Given the description of an element on the screen output the (x, y) to click on. 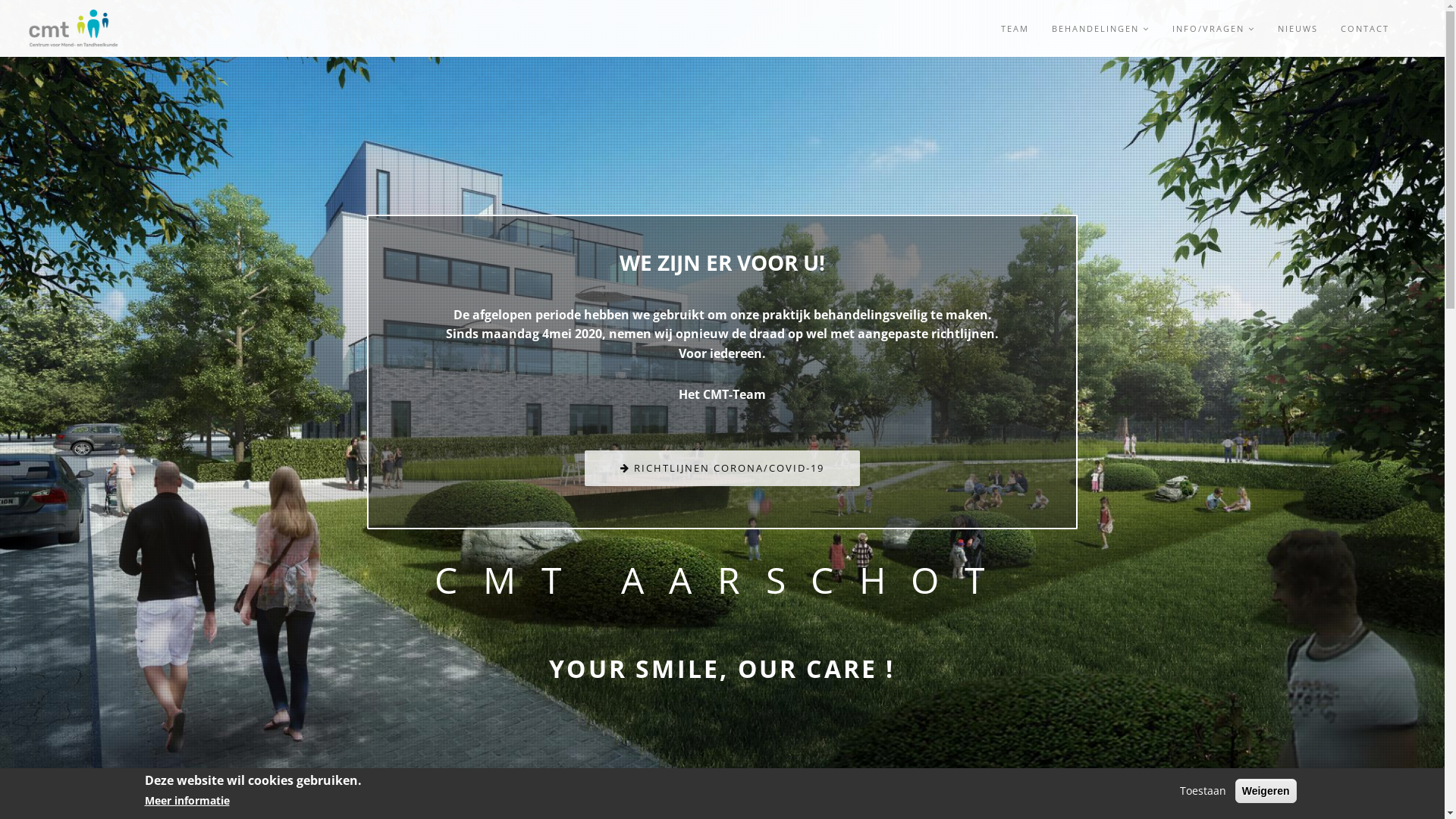
  Element type: text (1413, 28)
INFO/VRAGEN Element type: text (1213, 28)
Meer informatie Element type: text (186, 801)
CMT Aarschot Element type: hover (73, 28)
CONTACT Element type: text (1364, 28)
Toestaan Element type: text (1202, 790)
TEAM Element type: text (1015, 28)
BEHANDELINGEN Element type: text (1100, 28)
RICHTLIJNEN CORONA/COVID-19 Element type: text (721, 468)
NIEUWS Element type: text (1297, 28)
Weigeren Element type: text (1265, 790)
